Given the description of an element on the screen output the (x, y) to click on. 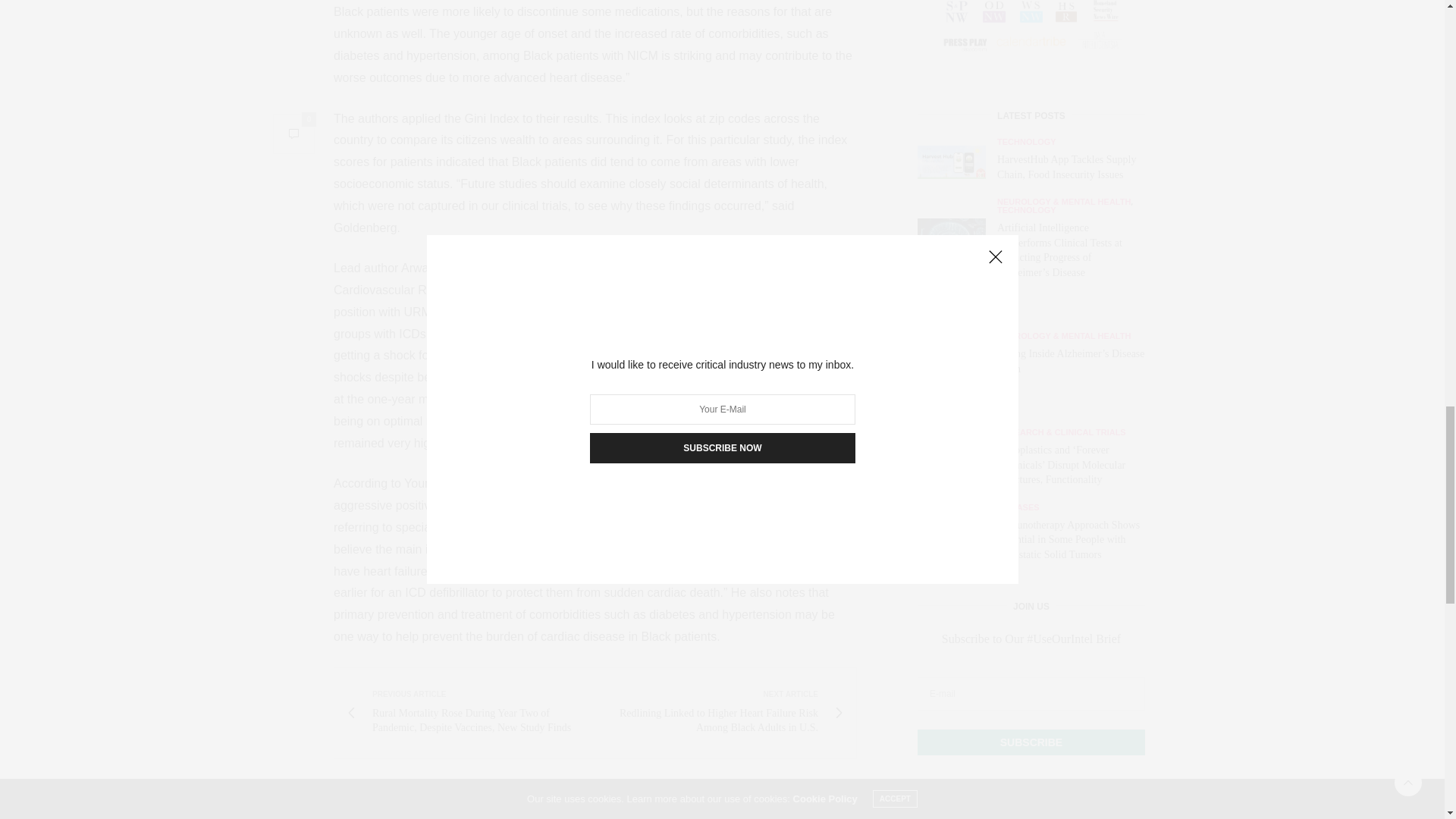
SUBMIT (1030, 210)
